Given the description of an element on the screen output the (x, y) to click on. 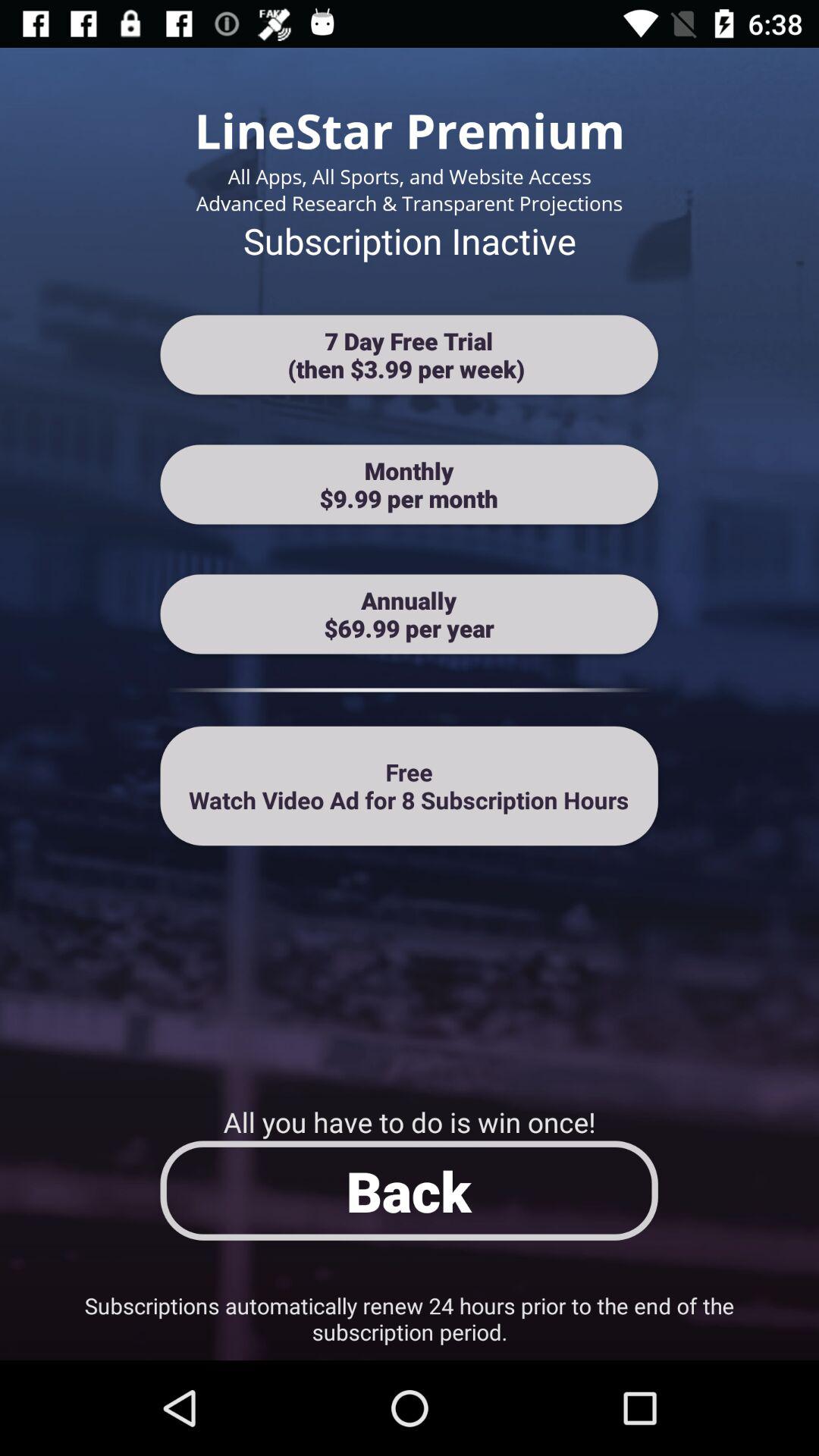
select the third box (409, 614)
select the fourth option (409, 785)
